Given the description of an element on the screen output the (x, y) to click on. 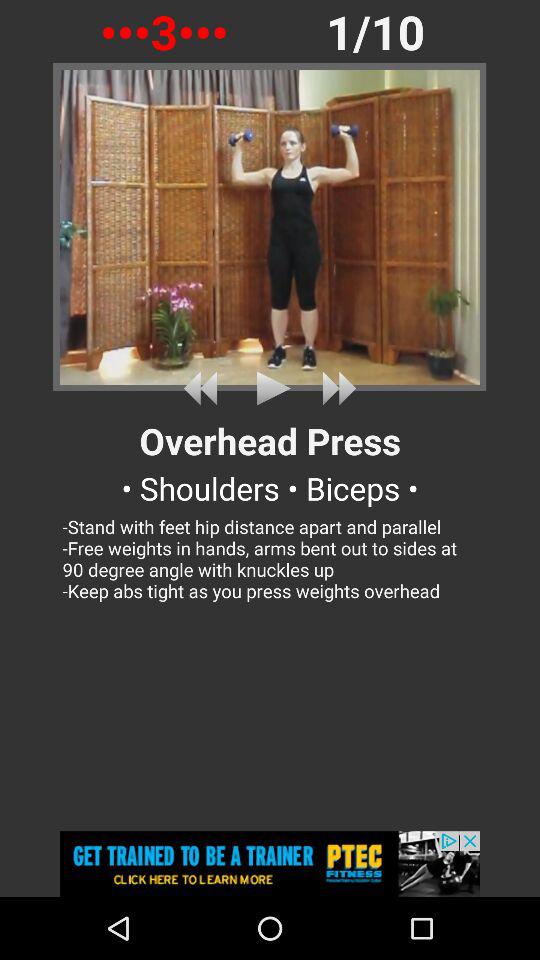
go (204, 388)
